Given the description of an element on the screen output the (x, y) to click on. 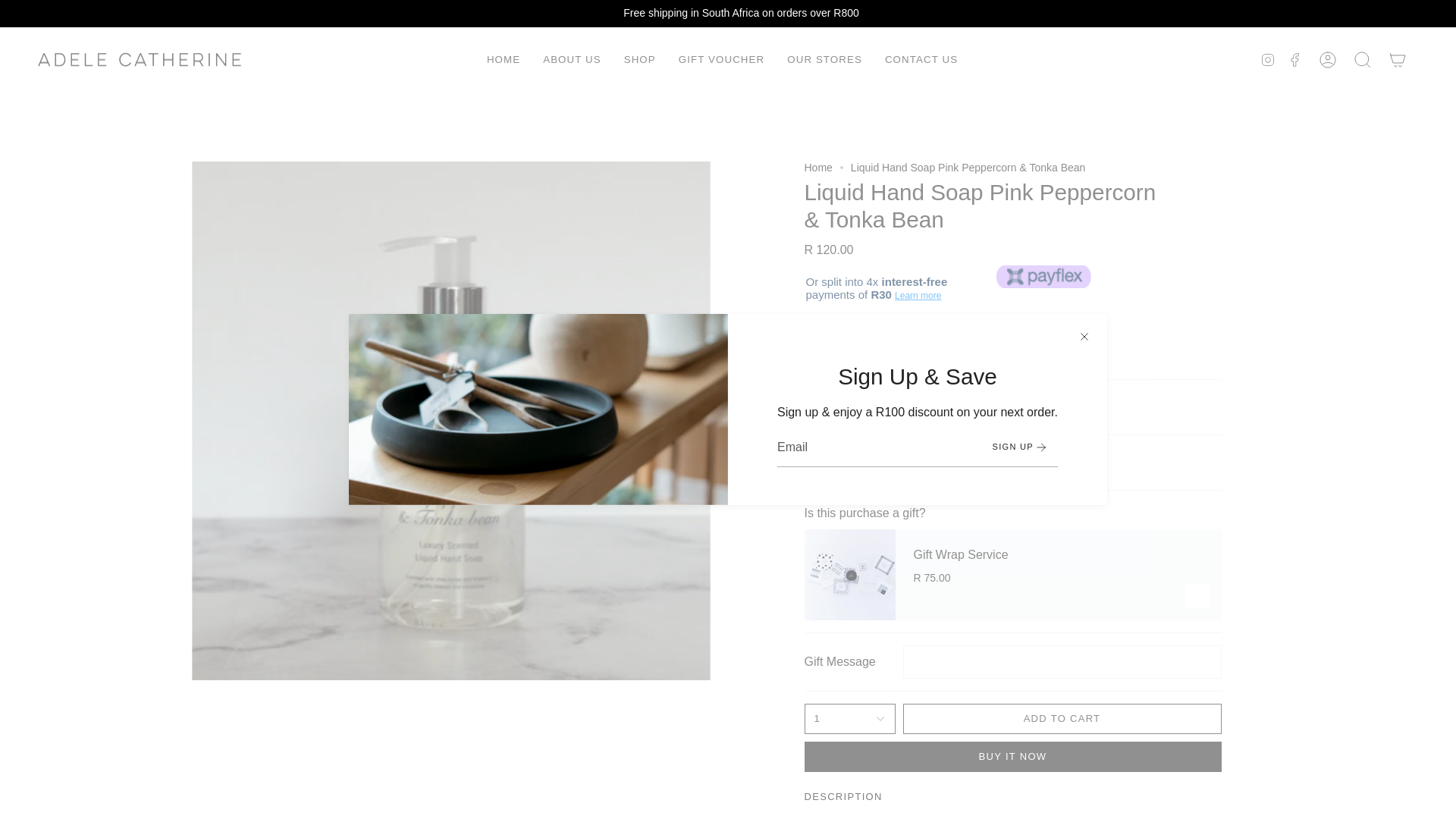
Cart (1397, 59)
My Account (1327, 59)
SHOP (639, 59)
ABOUT US (571, 59)
Search (1362, 59)
Close (1084, 336)
HOME (503, 59)
GIFT VOUCHER (721, 59)
